Given the description of an element on the screen output the (x, y) to click on. 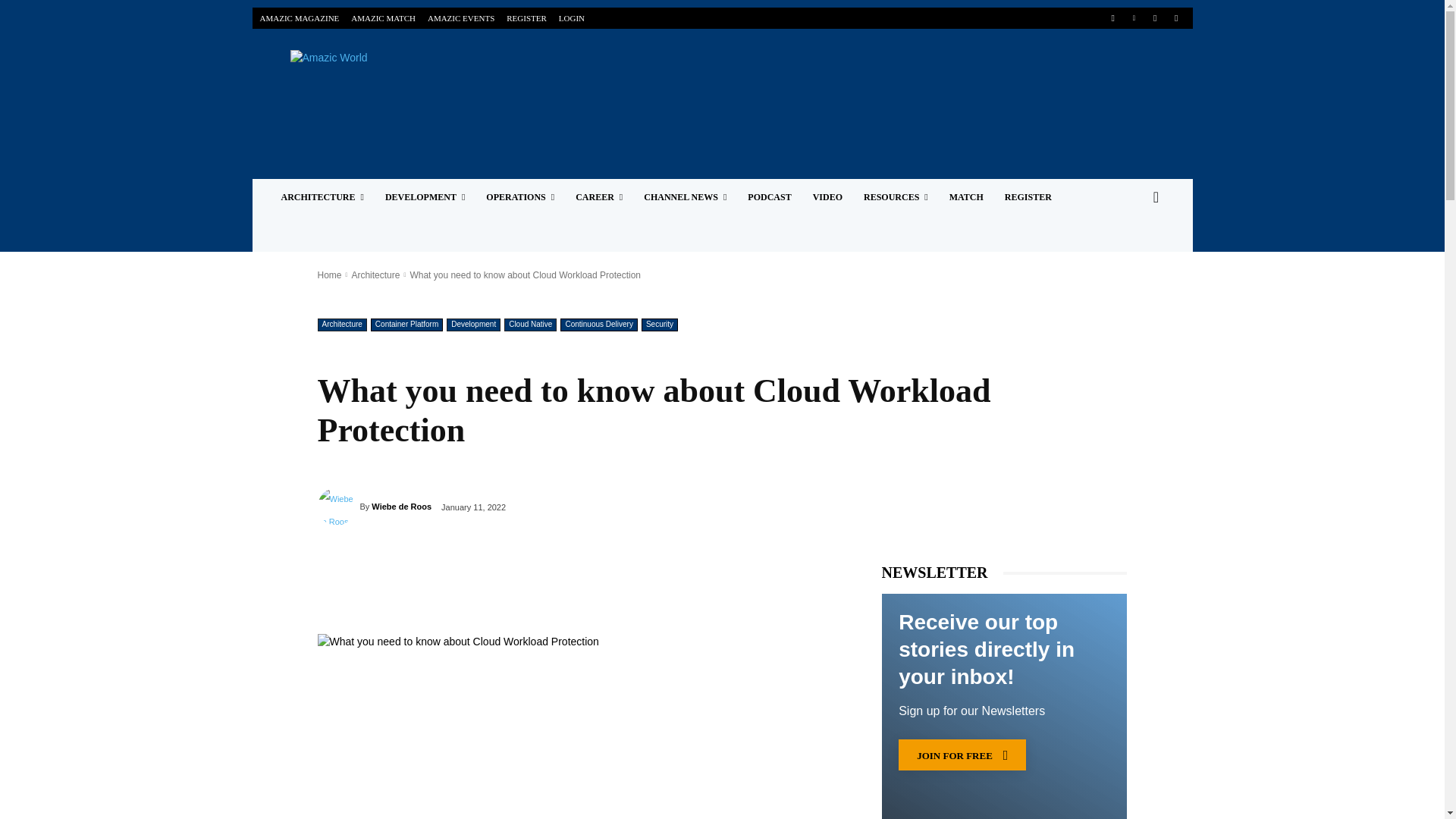
Amazic World (392, 77)
Facebook (1112, 17)
Twitter (1155, 17)
Amazic World (392, 77)
Youtube (1176, 17)
Linkedin (1133, 17)
